Given the description of an element on the screen output the (x, y) to click on. 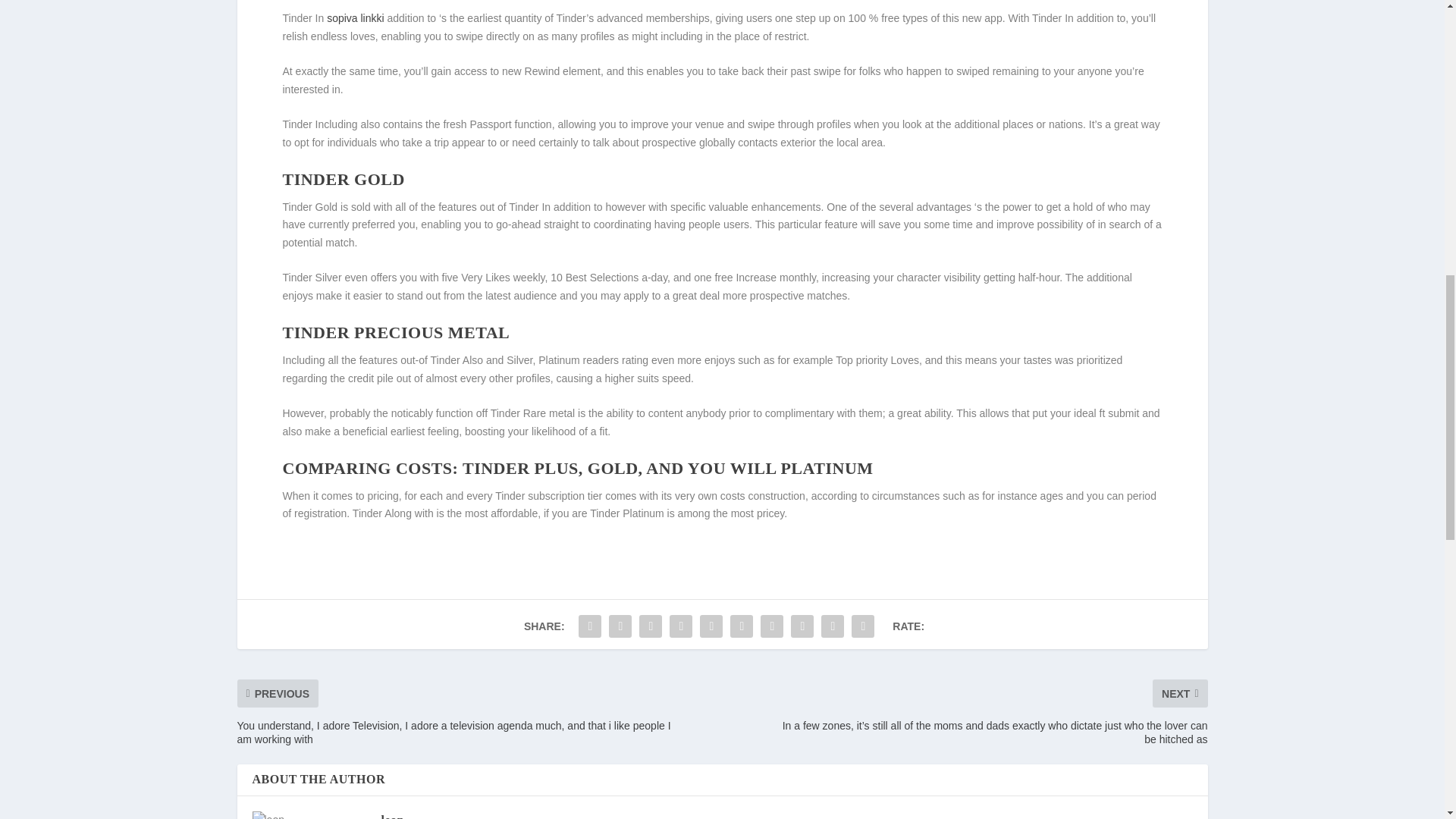
sopiva linkki (355, 18)
